Given the description of an element on the screen output the (x, y) to click on. 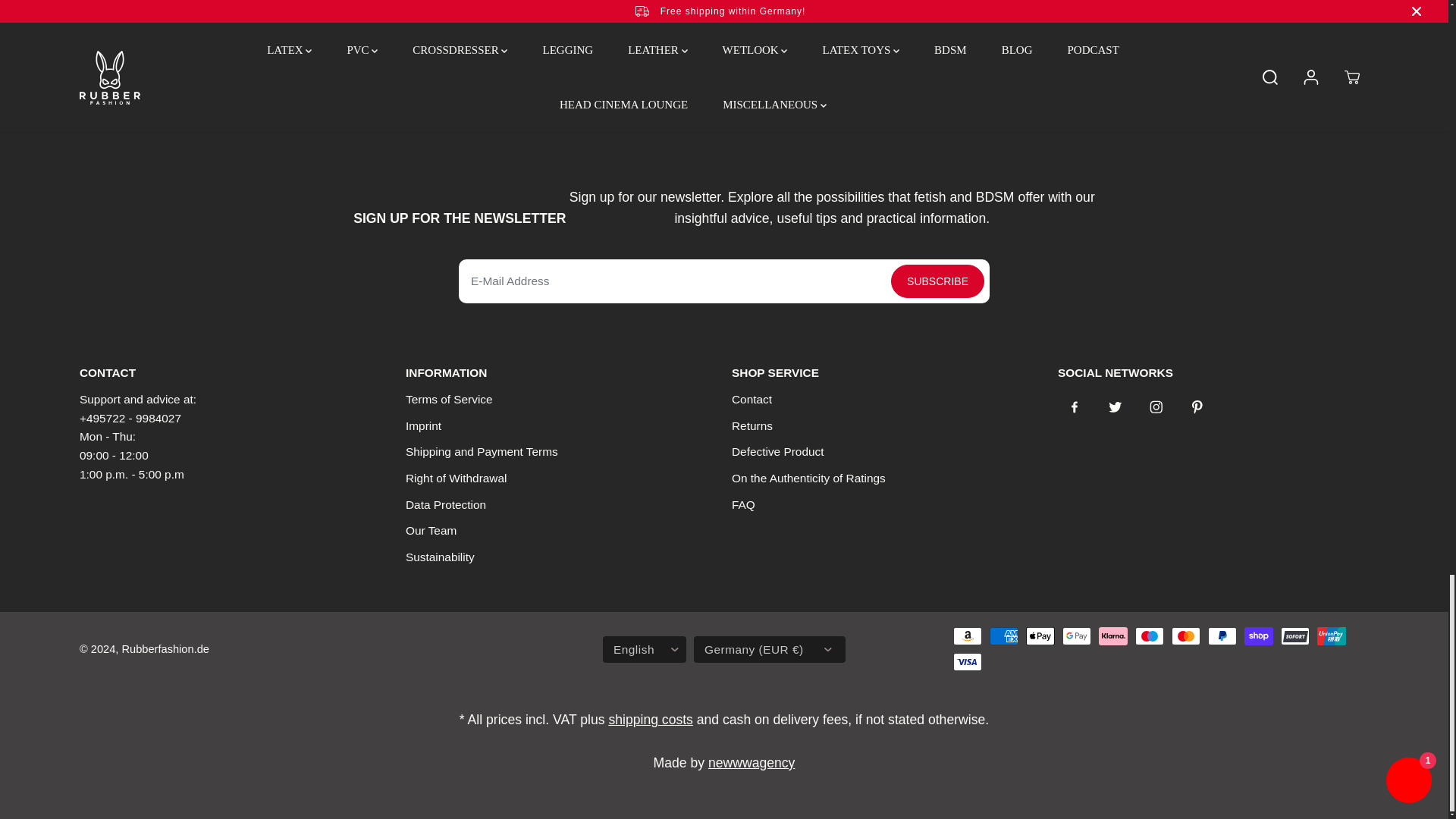
Shipping Policy (650, 719)
